Given the description of an element on the screen output the (x, y) to click on. 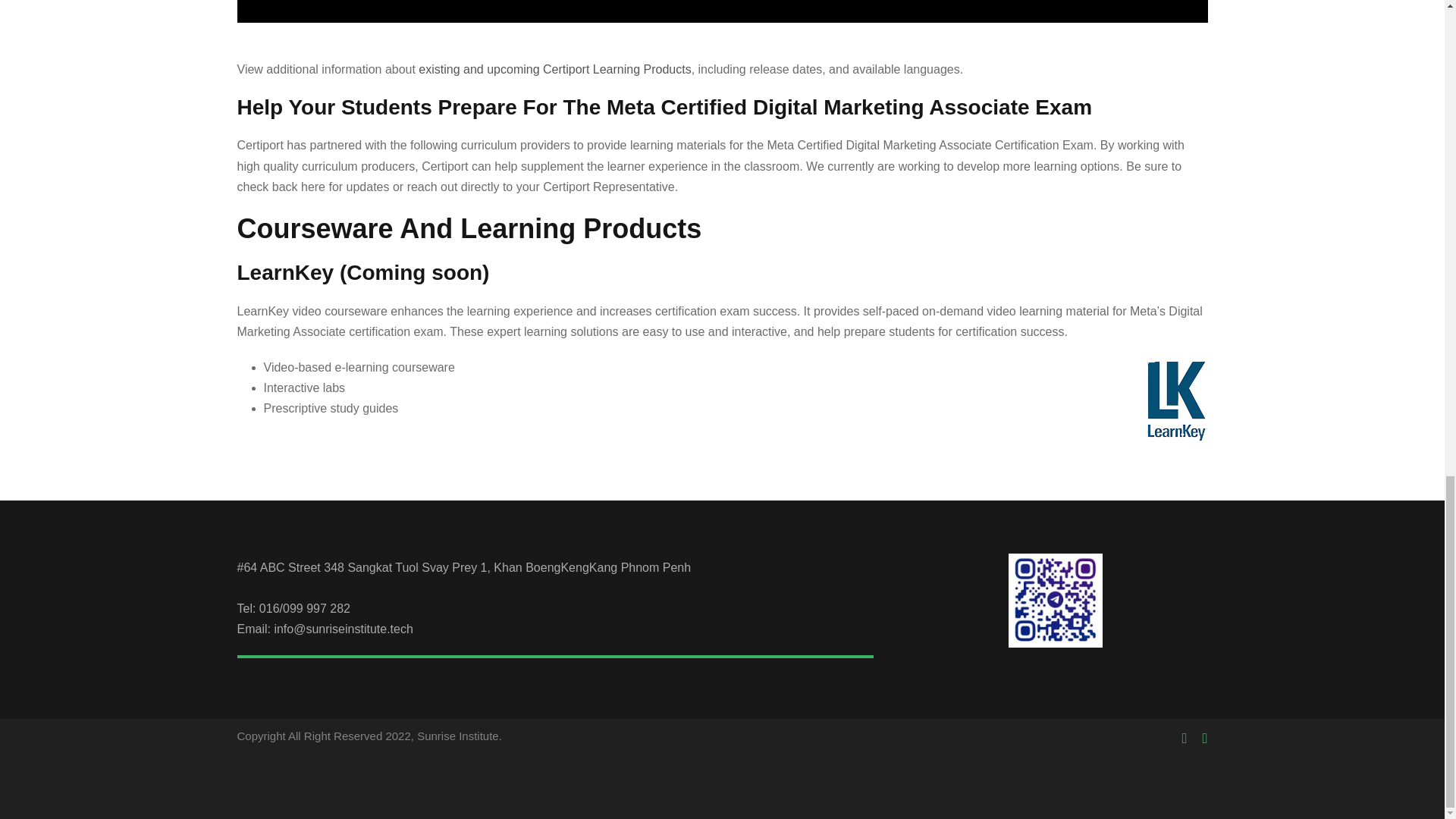
Certiport Learning Products (721, 11)
